Given the description of an element on the screen output the (x, y) to click on. 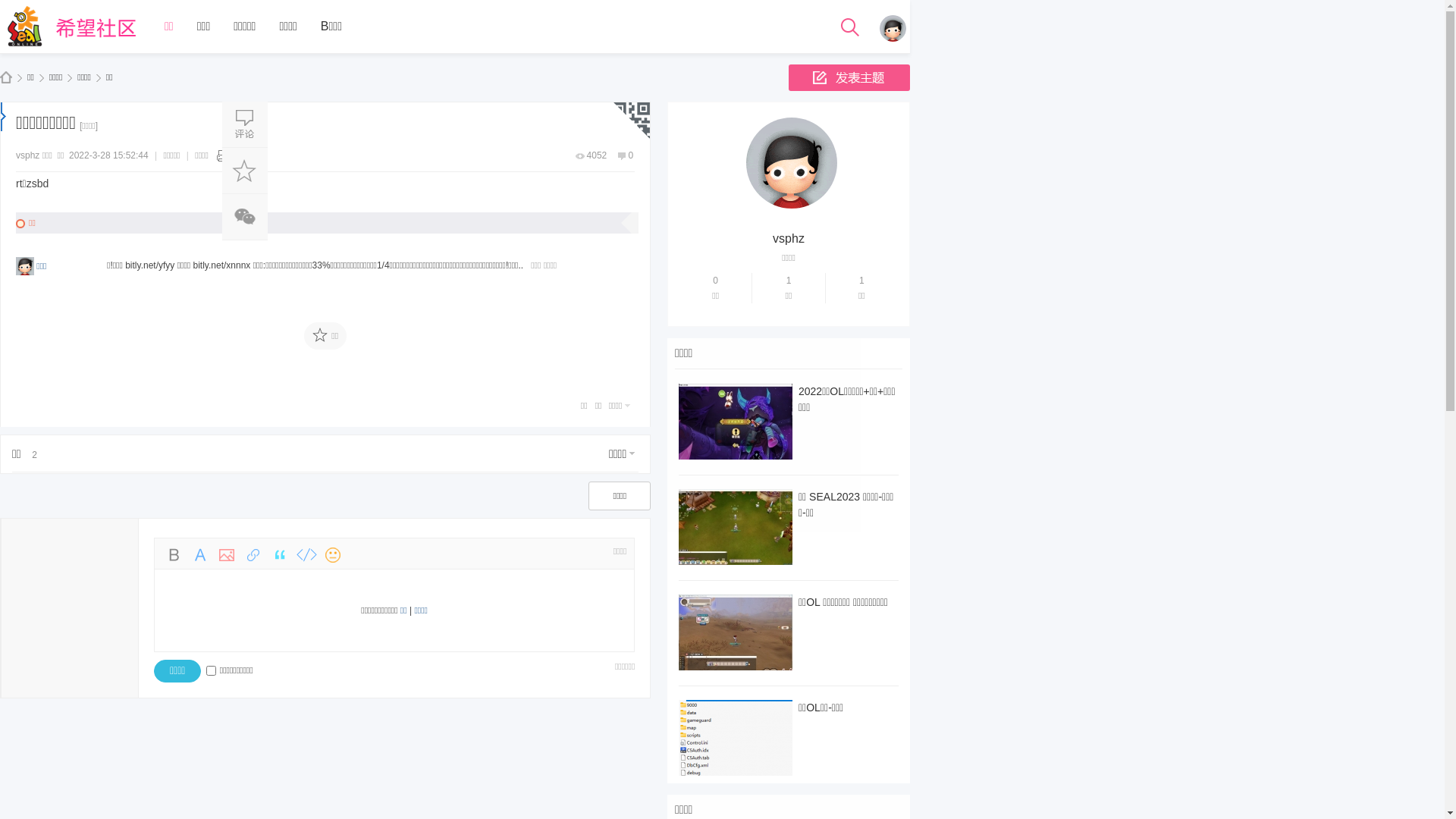
Color Element type: text (199, 554)
Quote Element type: text (279, 554)
vsphz Element type: text (788, 238)
B Element type: text (173, 554)
Image Element type: text (226, 554)
vsphz Element type: text (27, 155)
Link Element type: text (252, 554)
true Element type: text (704, 98)
Smilies Element type: text (332, 554)
Code Element type: text (305, 554)
